Given the description of an element on the screen output the (x, y) to click on. 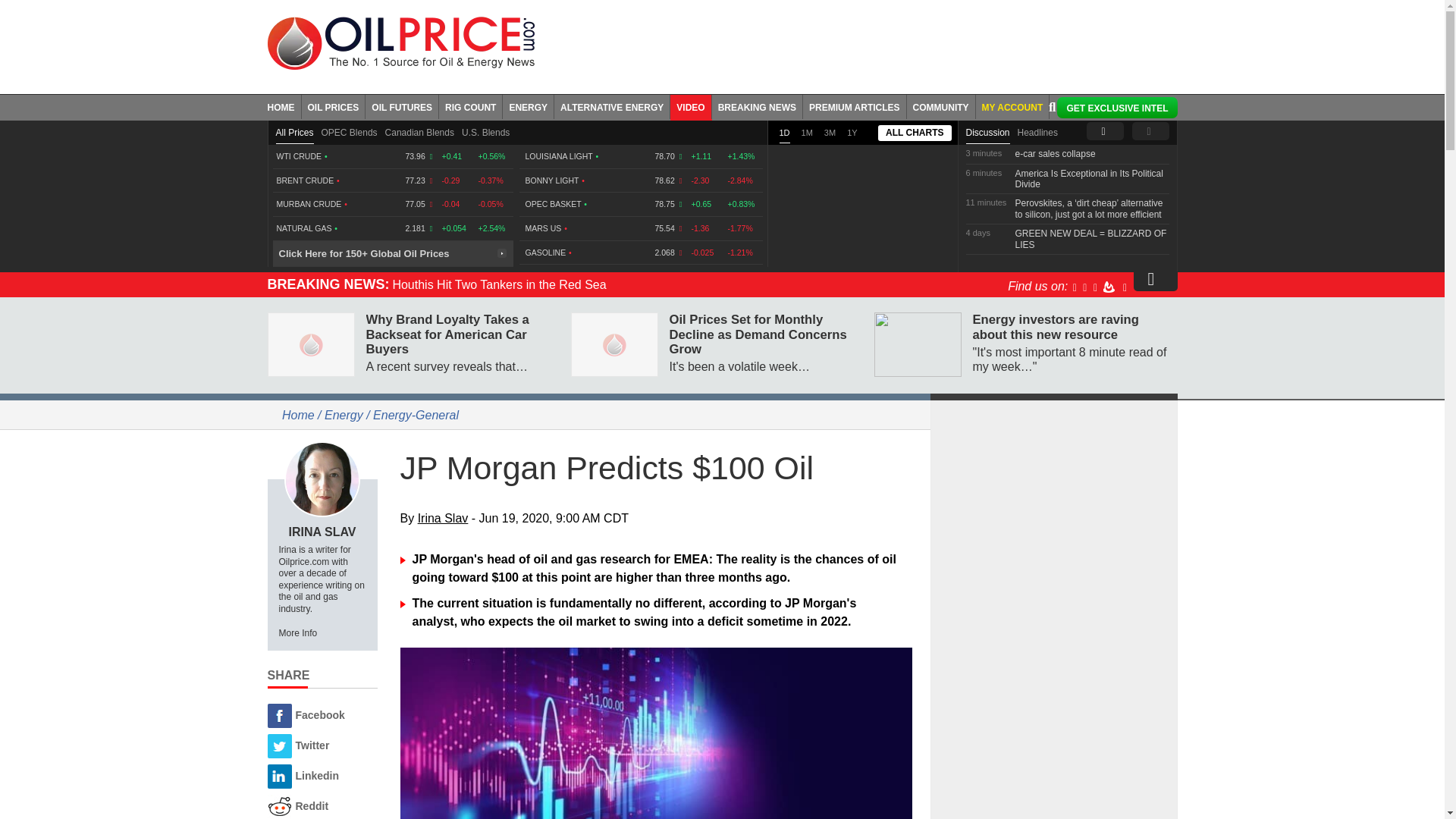
MY ACCOUNT (1012, 106)
RIG COUNT (470, 106)
Oil prices - Oilprice.com (400, 42)
OIL FUTURES (402, 106)
OIL PRICES (333, 106)
Irina Slav (321, 478)
ENERGY (528, 106)
HOME (283, 106)
ALTERNATIVE ENERGY (611, 106)
VIDEO (690, 106)
